Given the description of an element on the screen output the (x, y) to click on. 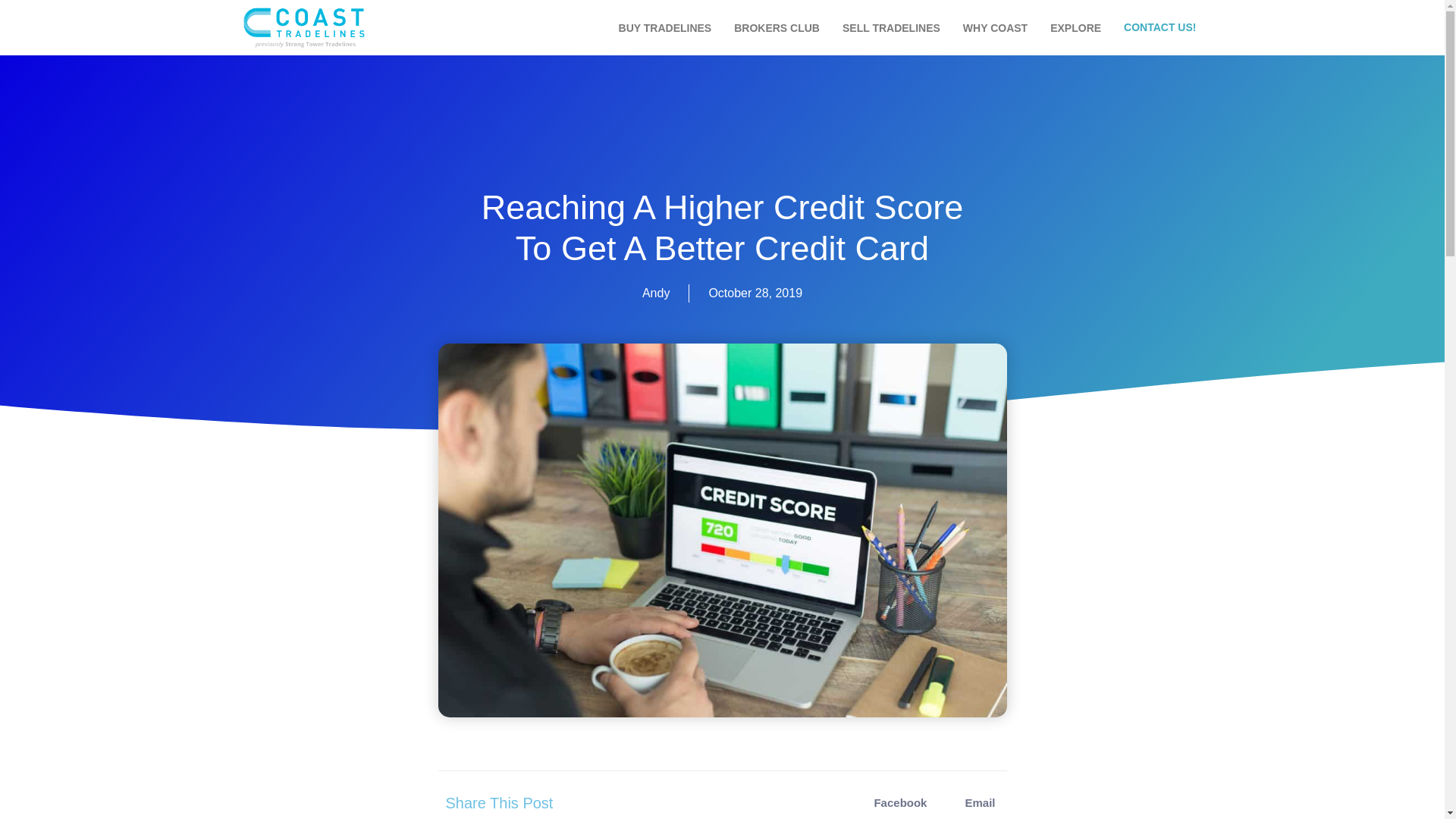
WHY COAST (995, 27)
CONTACT US! (1159, 27)
EXPLORE (1075, 27)
Andy (655, 293)
BUY TRADELINES (665, 27)
BROKERS CLUB (776, 27)
October 28, 2019 (754, 293)
SELL TRADELINES (891, 27)
